Given the description of an element on the screen output the (x, y) to click on. 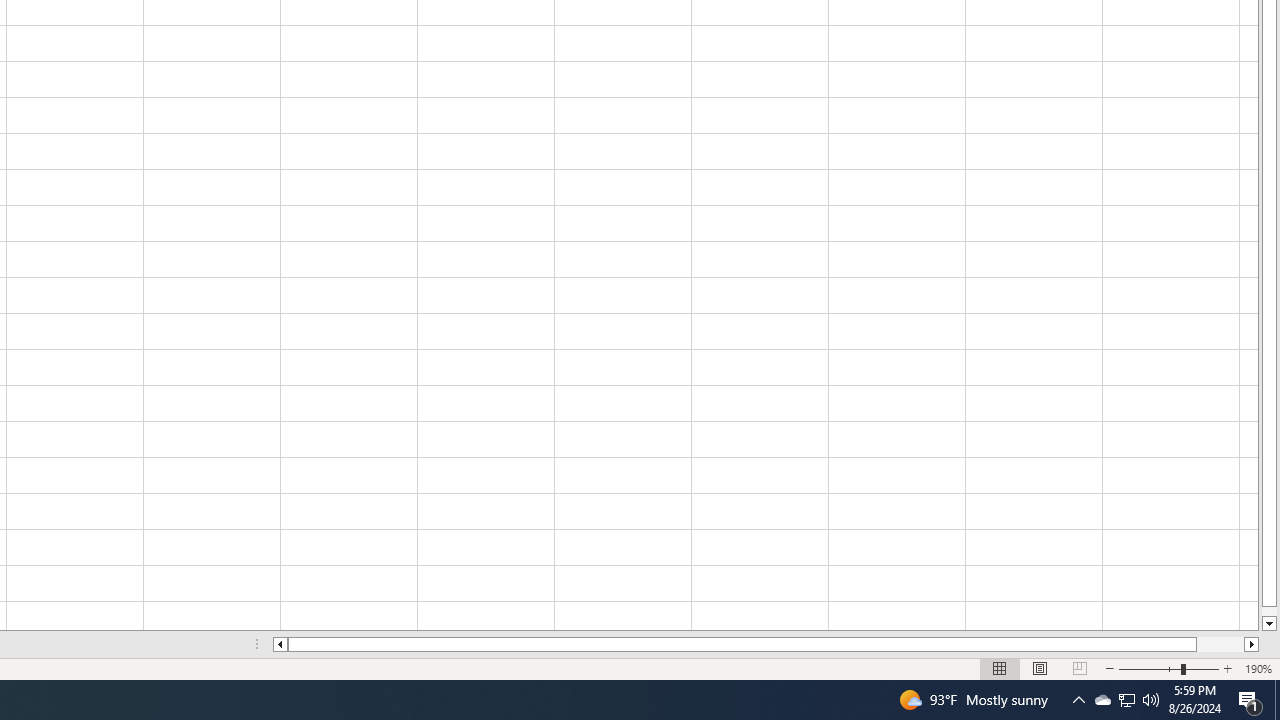
Line down (1268, 624)
Page Break Preview (1079, 668)
Class: NetUIScrollBar (765, 644)
Column left (279, 644)
Zoom In (1227, 668)
Page down (1268, 611)
Column right (1252, 644)
Zoom (1168, 668)
Zoom Out (1149, 668)
Page right (1220, 644)
